Given the description of an element on the screen output the (x, y) to click on. 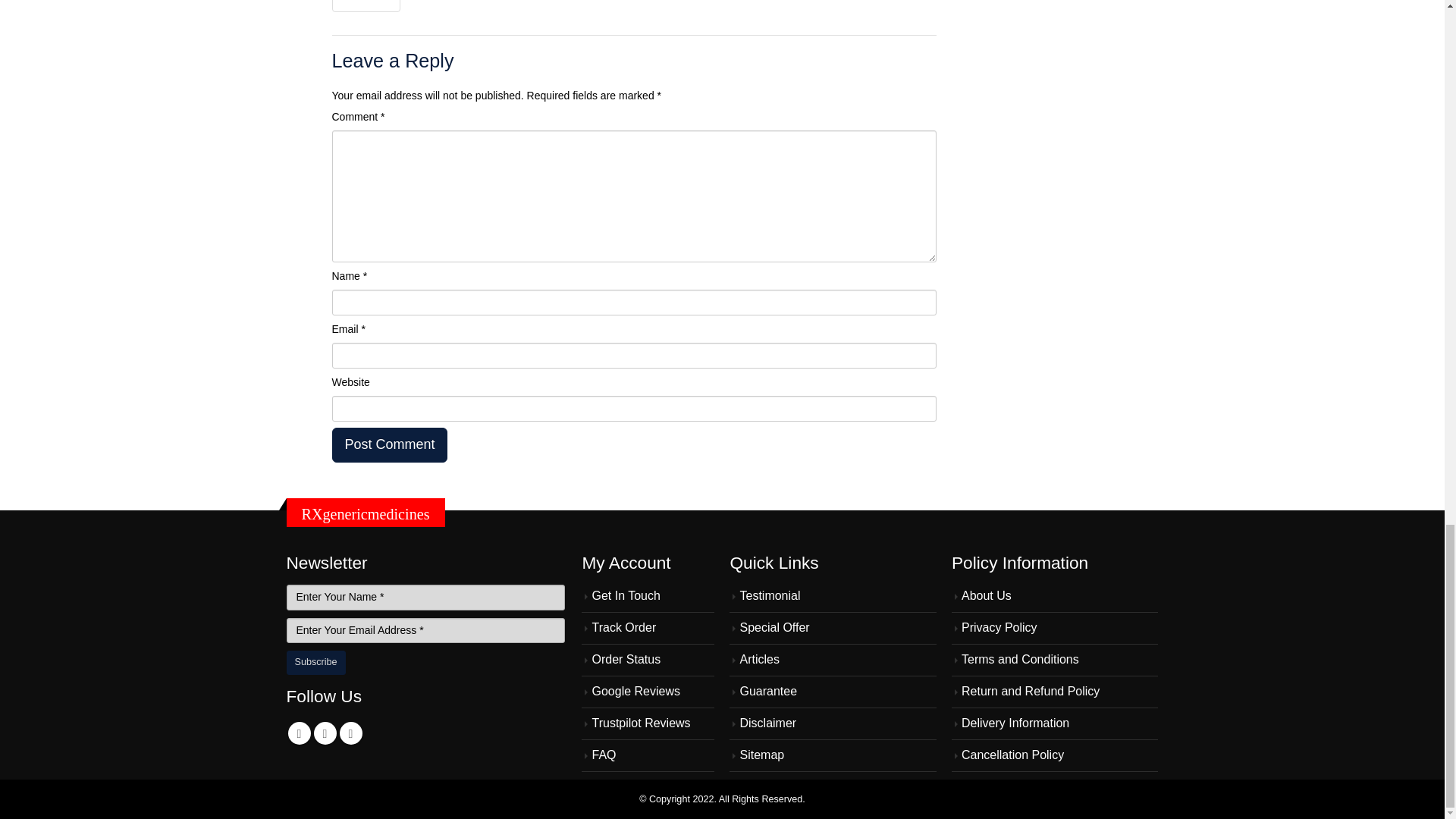
Linkedin (350, 732)
Facebook (299, 732)
Order Status (626, 658)
Twitter (325, 732)
Subscribe (316, 662)
Post Comment (389, 444)
Track Order (623, 626)
